Given the description of an element on the screen output the (x, y) to click on. 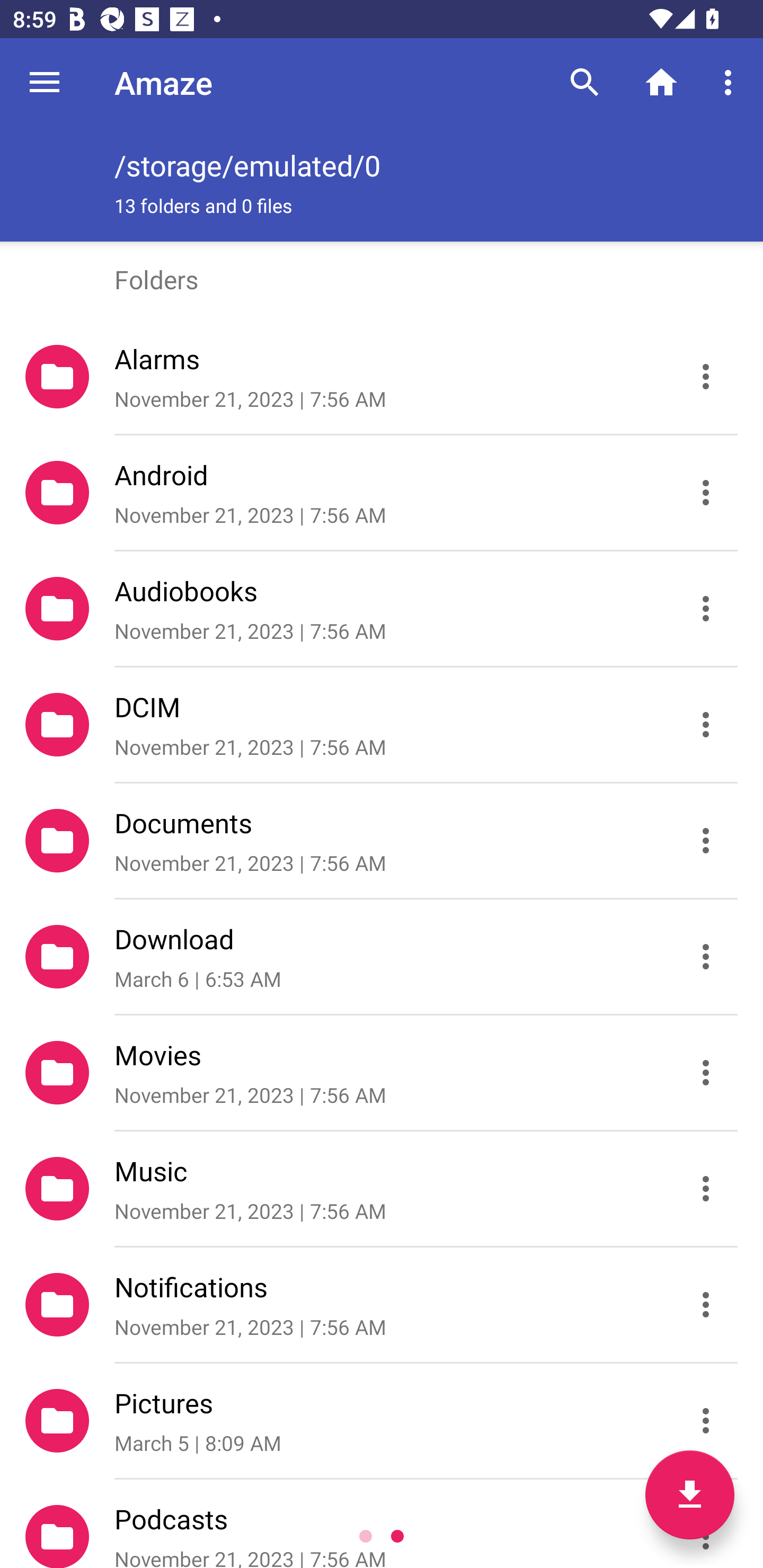
Navigate up (44, 82)
Search (585, 81)
Home (661, 81)
More options (731, 81)
Alarms November 21, 2023 | 7:56 AM (381, 376)
Android November 21, 2023 | 7:56 AM (381, 492)
Audiobooks November 21, 2023 | 7:56 AM (381, 608)
DCIM November 21, 2023 | 7:56 AM (381, 724)
Documents November 21, 2023 | 7:56 AM (381, 841)
Download March 6 | 6:53 AM (381, 957)
Movies November 21, 2023 | 7:56 AM (381, 1073)
Music November 21, 2023 | 7:56 AM (381, 1189)
Notifications November 21, 2023 | 7:56 AM (381, 1305)
Pictures March 5 | 8:09 AM (381, 1421)
Podcasts November 21, 2023 | 7:56 AM (381, 1524)
